Given the description of an element on the screen output the (x, y) to click on. 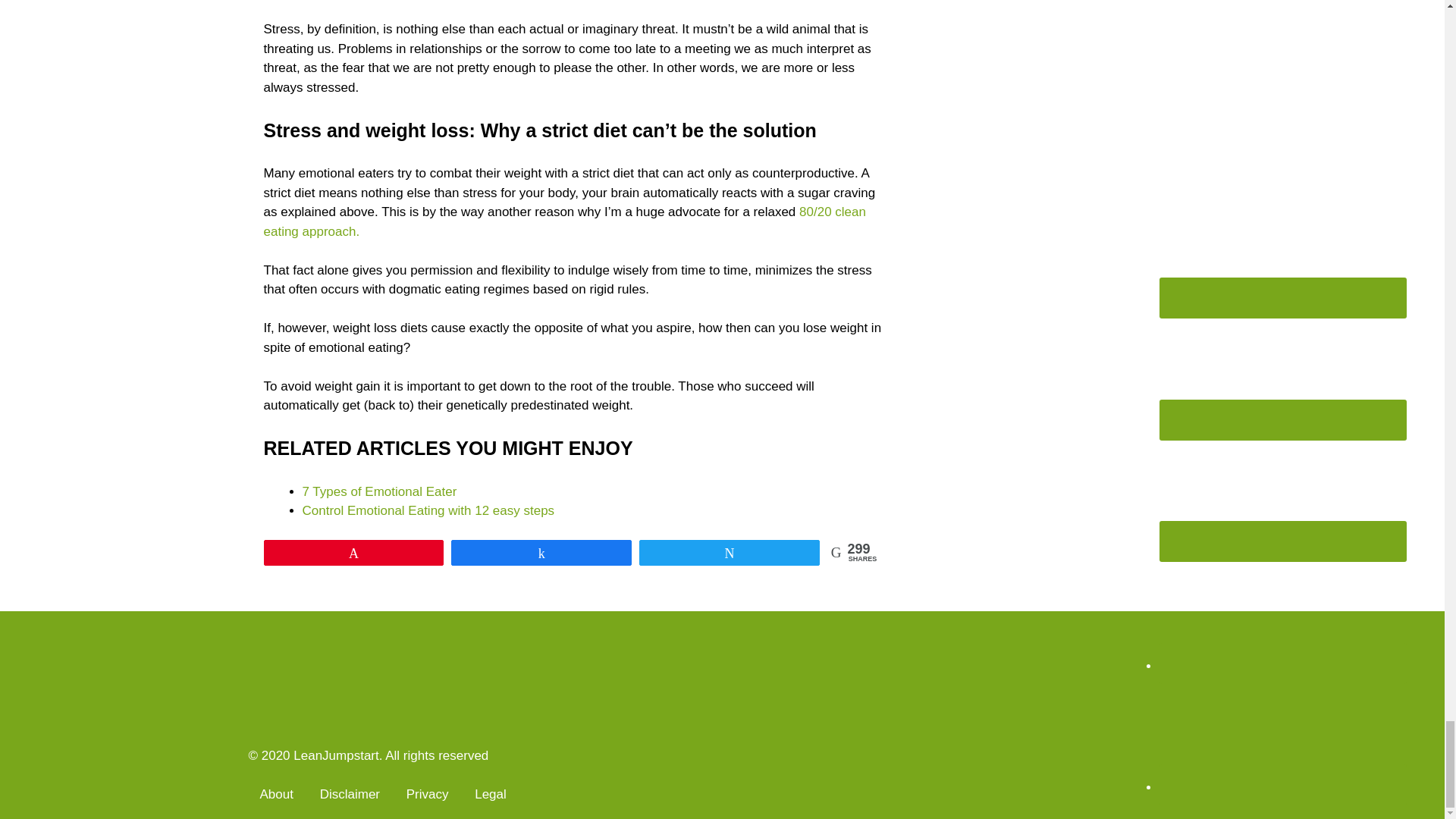
Pinterest (1282, 490)
Twitter (1282, 613)
Instagram (1282, 369)
YouTube (1282, 734)
Facebook (1282, 247)
